Given the description of an element on the screen output the (x, y) to click on. 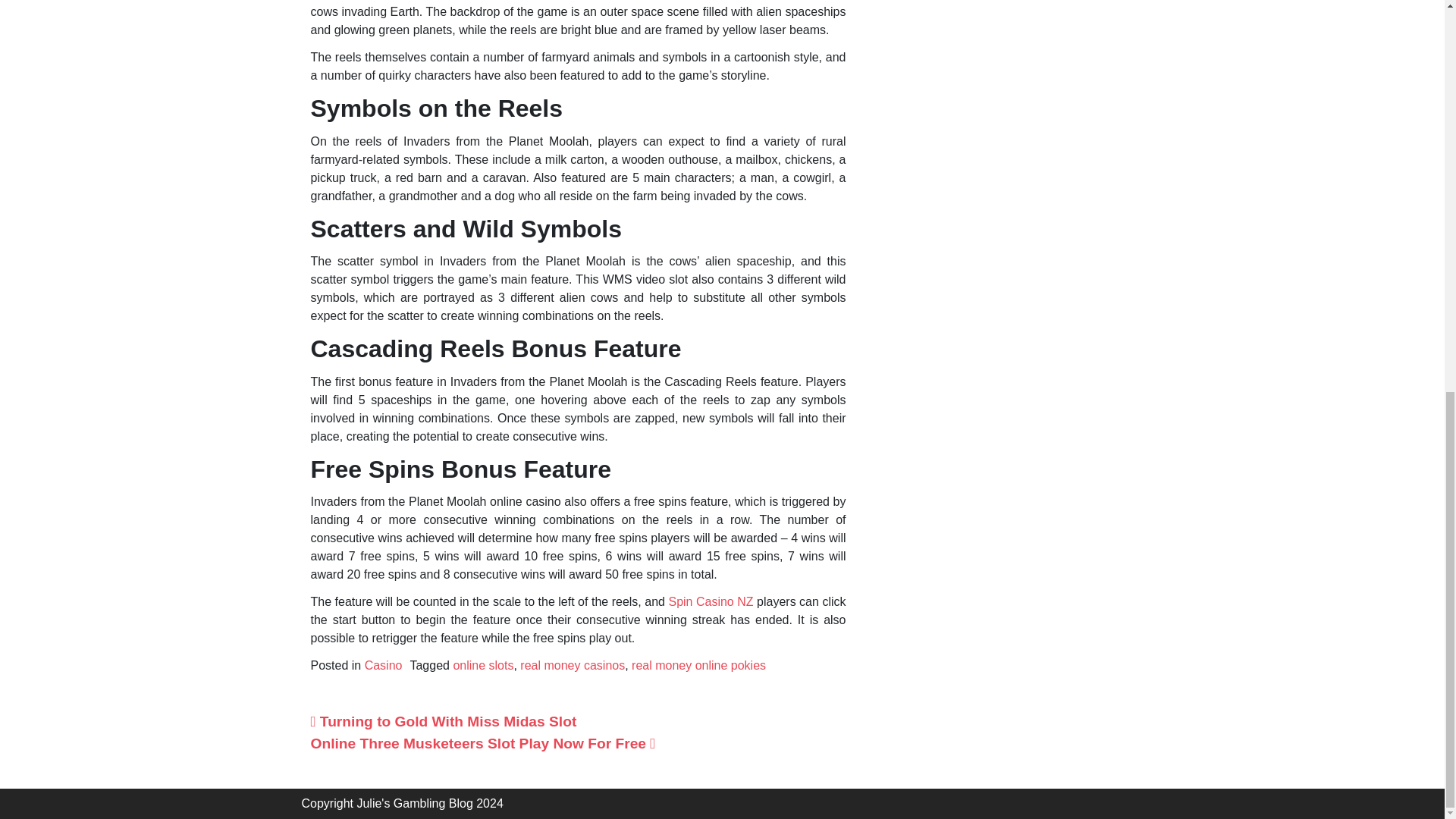
Casino (384, 665)
online slots (482, 665)
 Turning to Gold With Miss Midas Slot (443, 721)
real money online pokies (698, 665)
Online Three Musketeers Slot Play Now For Free  (483, 743)
real money casinos (571, 665)
Spin Casino NZ (710, 601)
